Given the description of an element on the screen output the (x, y) to click on. 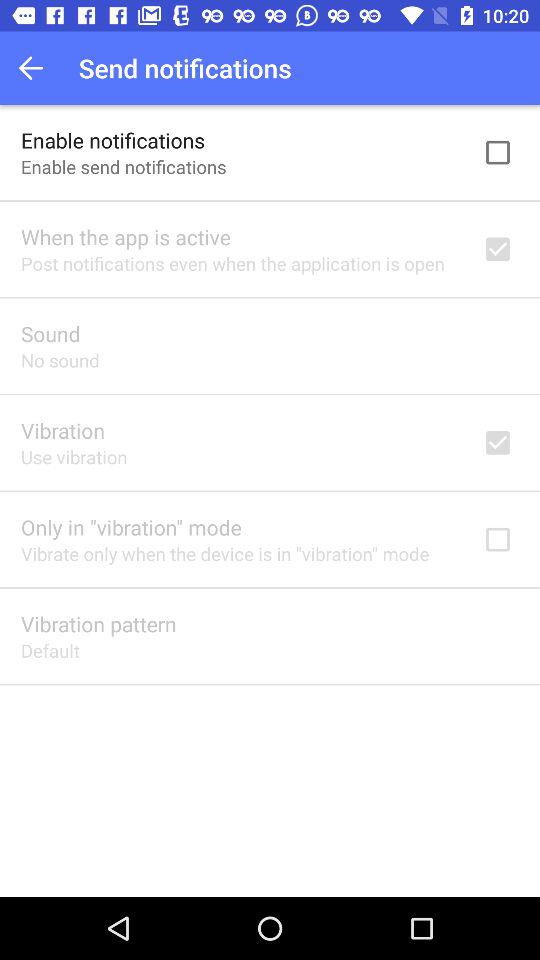
open icon above the vibration app (60, 360)
